Given the description of an element on the screen output the (x, y) to click on. 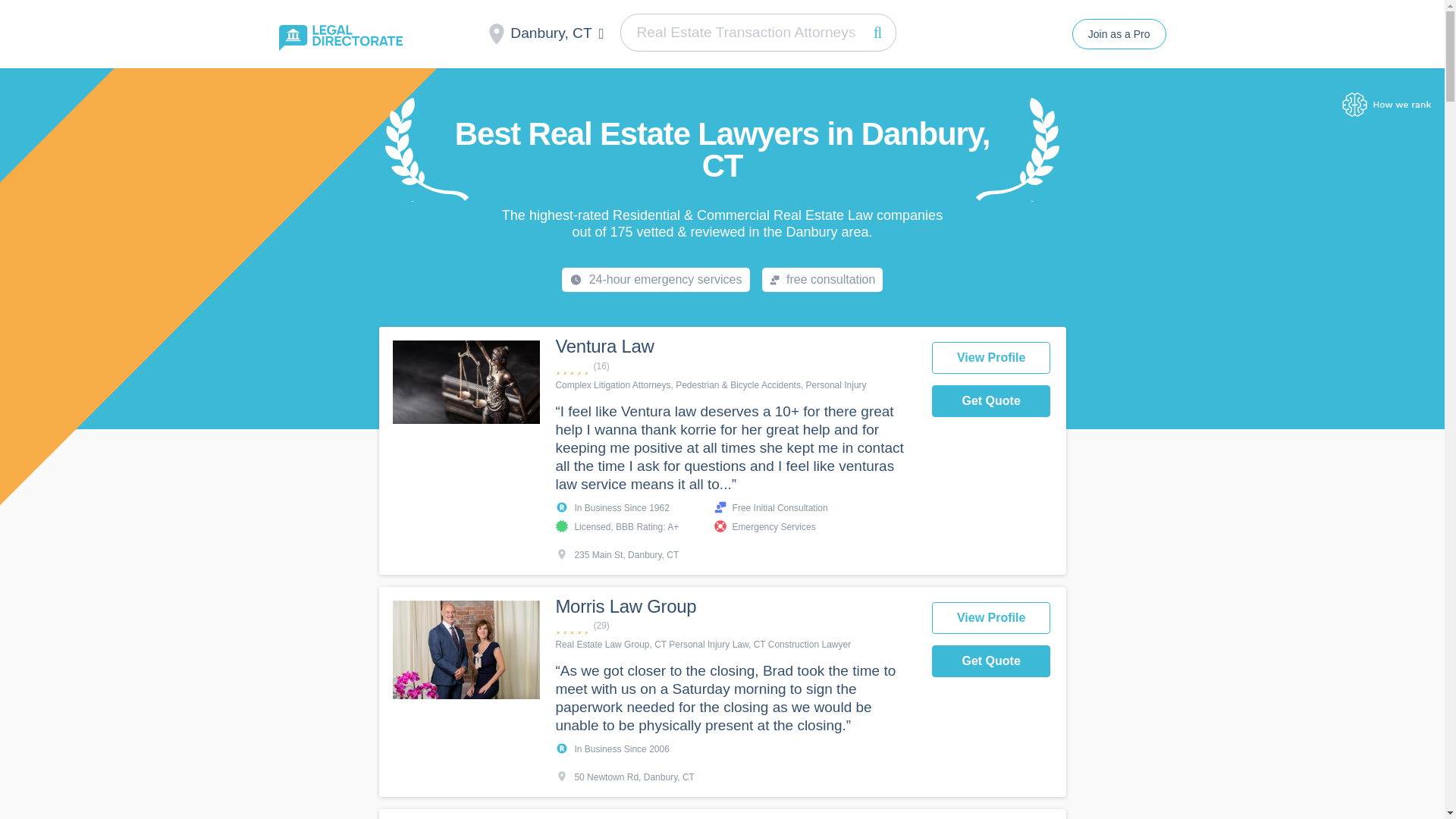
Get Quote (991, 400)
Join as a Pro (1118, 33)
4.9 (734, 366)
Search (877, 32)
Search (877, 32)
Search (877, 32)
free consultation (821, 279)
4.9 (734, 626)
Get Quote (991, 661)
24-hour emergency services (655, 279)
